Given the description of an element on the screen output the (x, y) to click on. 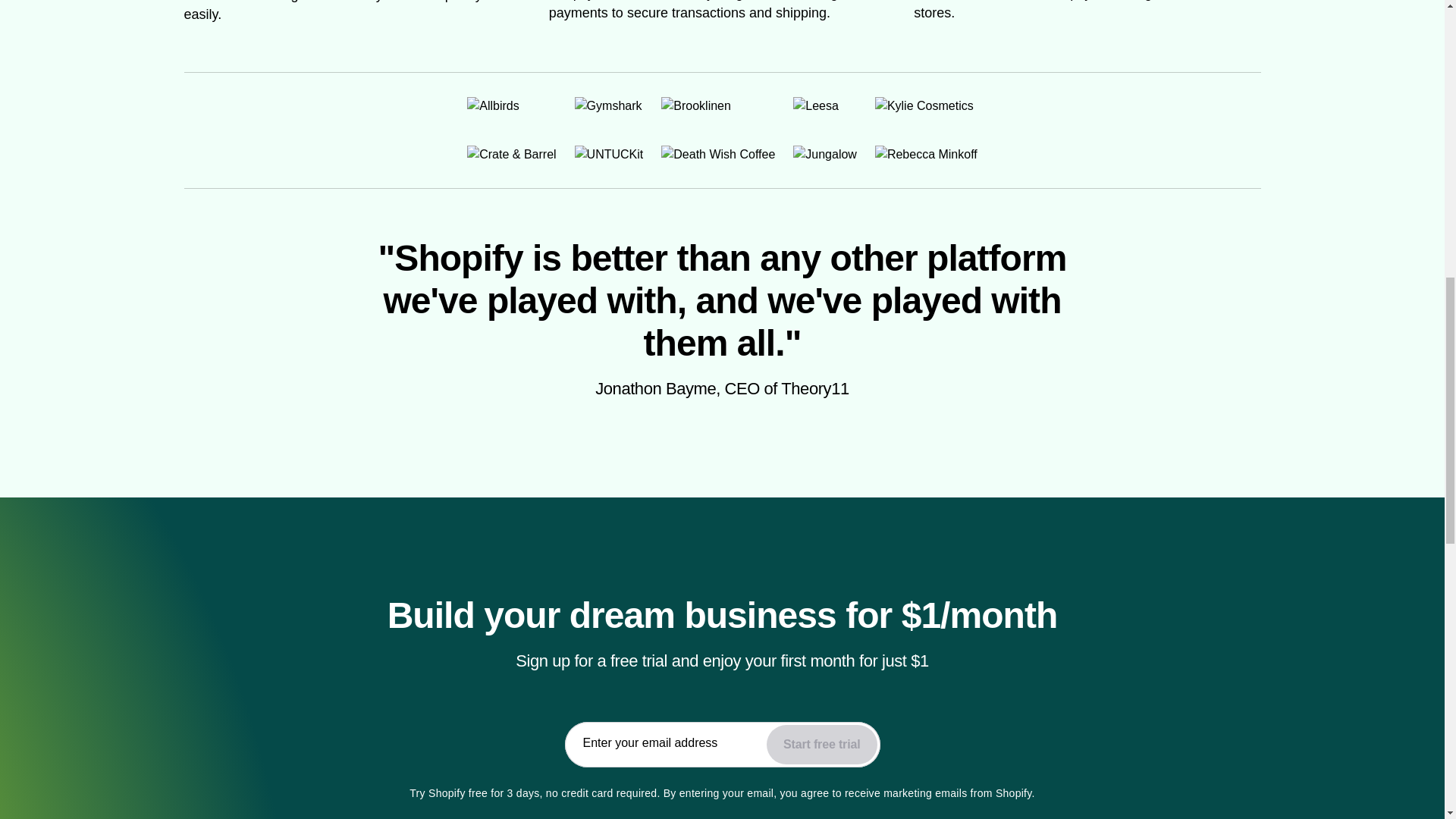
Start free trial (821, 744)
